Given the description of an element on the screen output the (x, y) to click on. 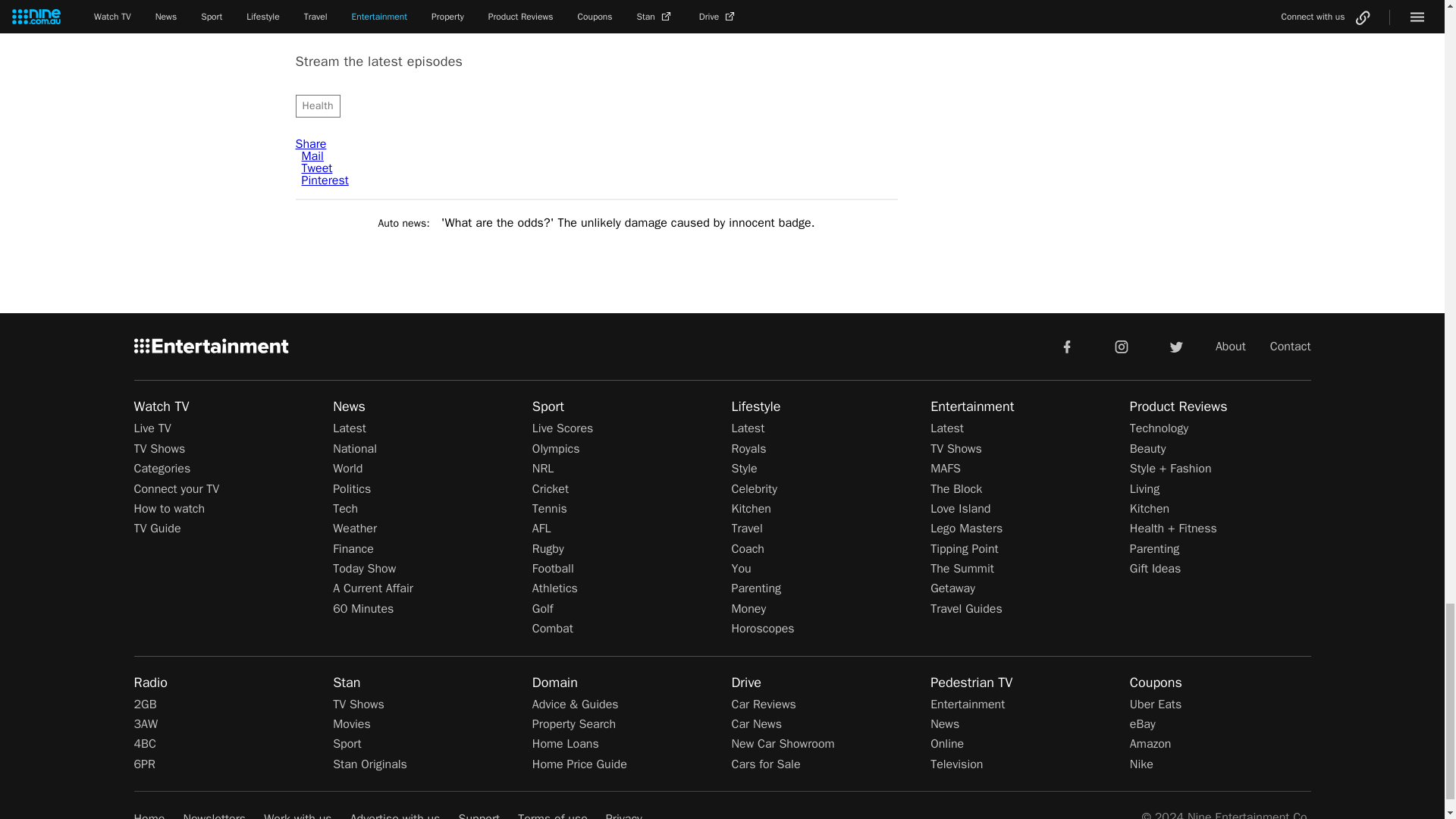
Watch TV (161, 406)
facebook (1066, 345)
TV Shows (158, 448)
Mail (312, 155)
About (1230, 346)
Categories (161, 468)
Health (317, 106)
twitter (1175, 345)
Contact (1290, 346)
